Given the description of an element on the screen output the (x, y) to click on. 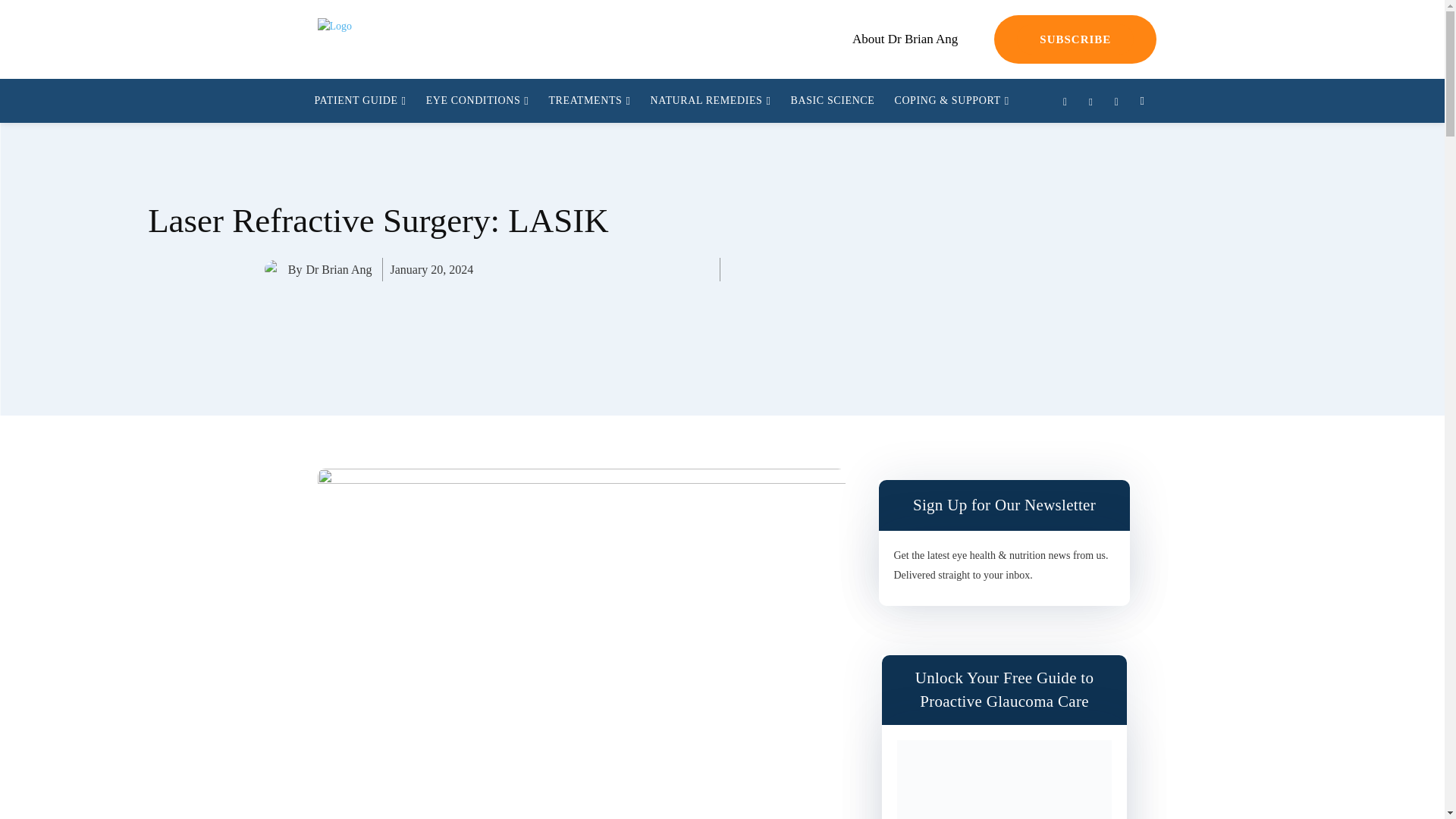
Facebook (1065, 102)
Subscribe (1075, 39)
Dr Brian Ang (276, 269)
LinkedIn (1090, 102)
Youtube (1115, 102)
